Given the description of an element on the screen output the (x, y) to click on. 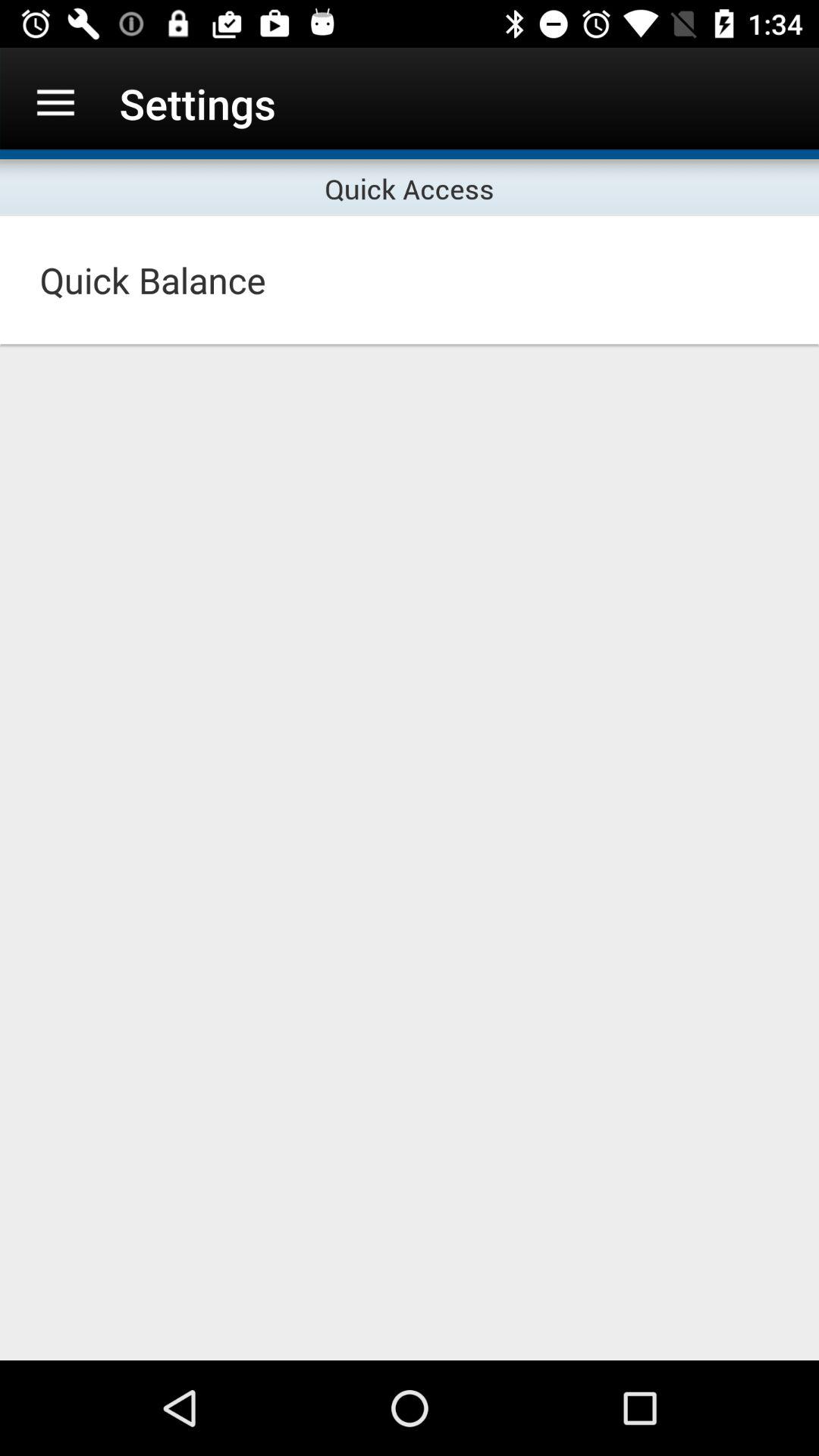
press icon to the left of the settings item (55, 103)
